Given the description of an element on the screen output the (x, y) to click on. 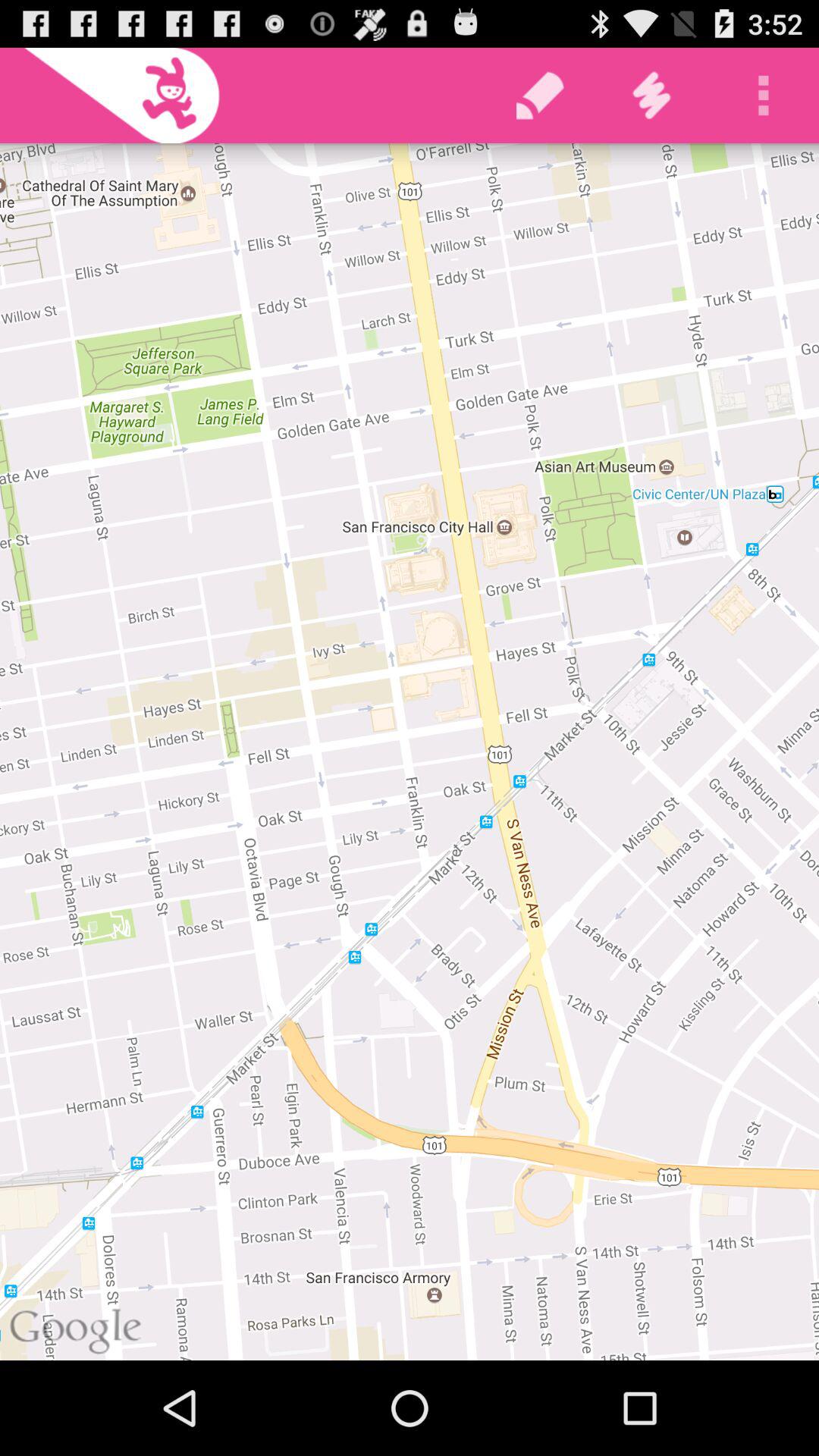
click the icon at the center (409, 751)
